Given the description of an element on the screen output the (x, y) to click on. 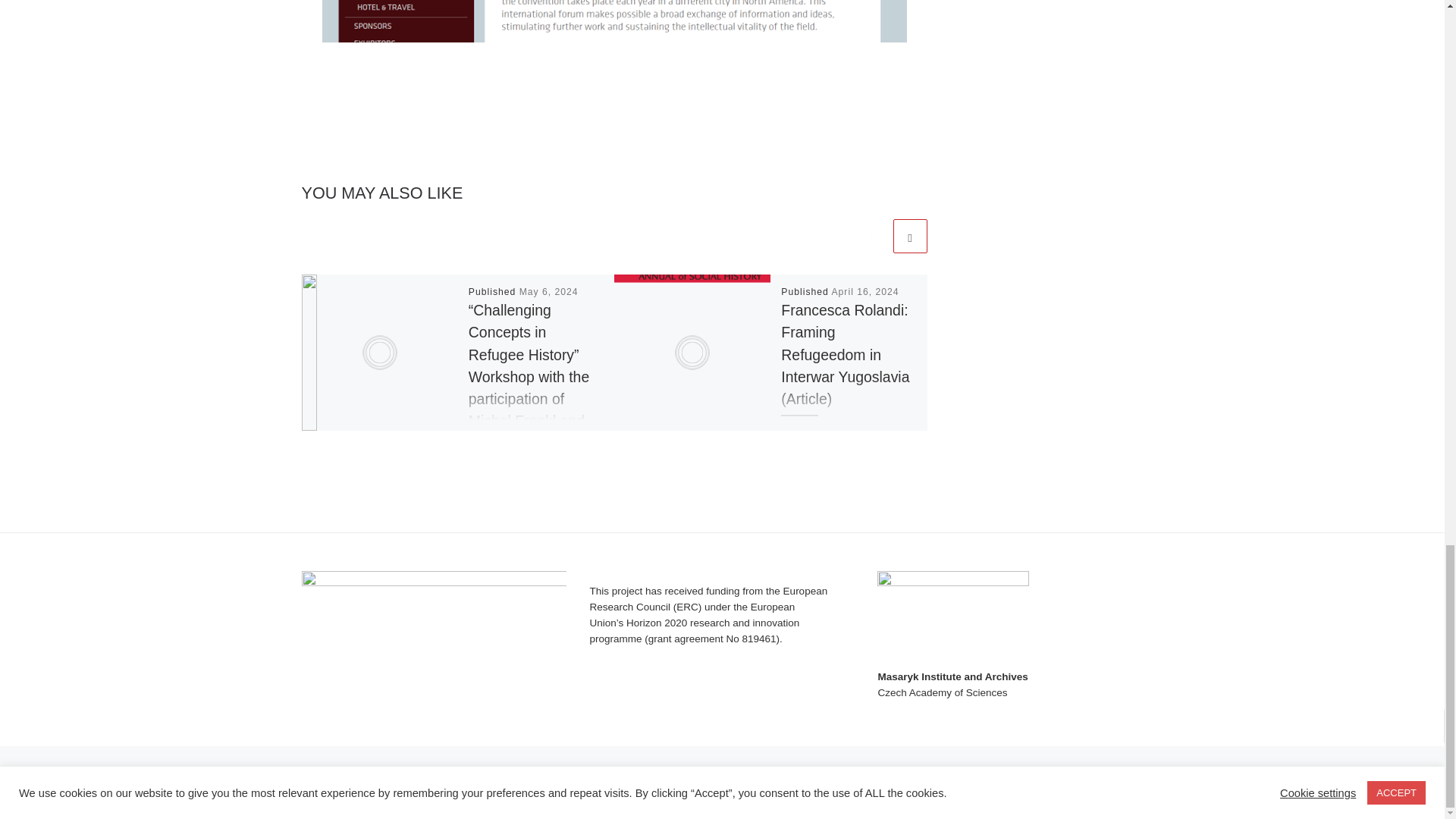
Powered by WordPress (364, 792)
Previous related articles (872, 236)
Unlikely Refuge? (385, 770)
Next related articles (910, 236)
